Given the description of an element on the screen output the (x, y) to click on. 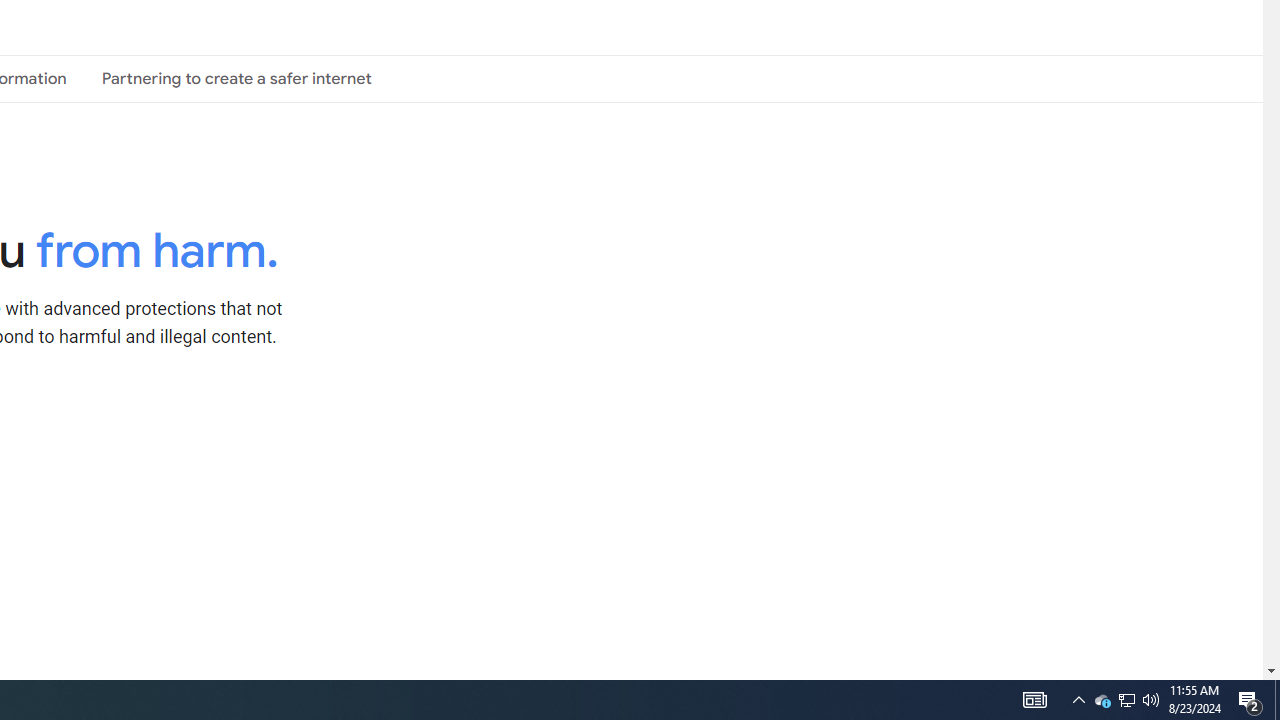
Partnering to create a safer internet (236, 78)
Expand All (459, 428)
